Given the description of an element on the screen output the (x, y) to click on. 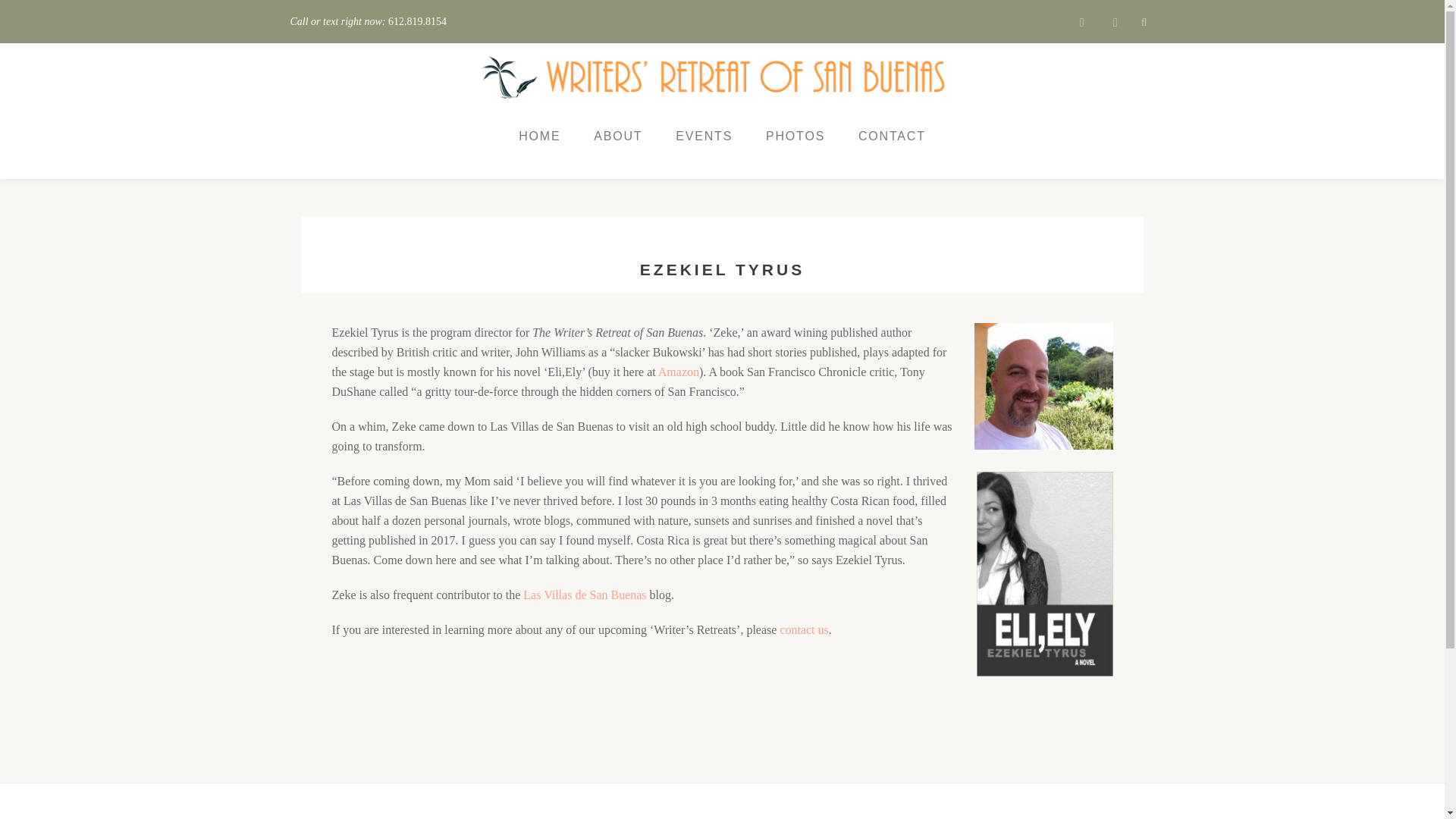
PHOTOS (795, 135)
Las Villas de San Buenas (585, 594)
EVENTS (704, 135)
ABOUT (618, 135)
Amazon (678, 371)
fa-facebook (1081, 25)
contact us (803, 629)
fa-twitter (1115, 25)
CONTACT (891, 135)
HOME (539, 135)
Writers Retreat of San Buenas (716, 77)
